Given the description of an element on the screen output the (x, y) to click on. 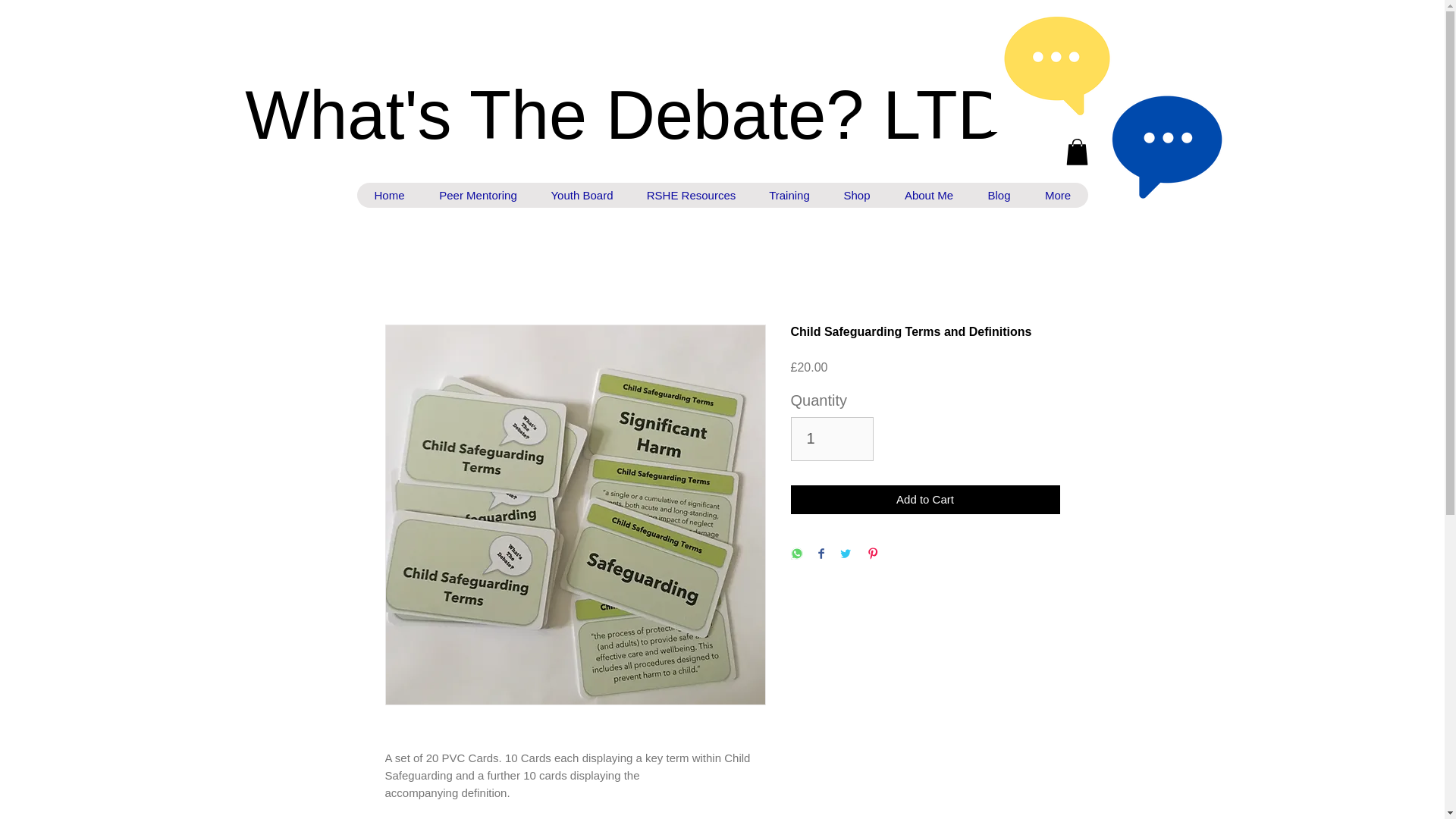
1 (831, 438)
Peer Mentoring (477, 195)
Home (389, 195)
Training (789, 195)
About Me (928, 195)
Youth Board (582, 195)
Add to Cart (924, 500)
Blog (999, 195)
